Given the description of an element on the screen output the (x, y) to click on. 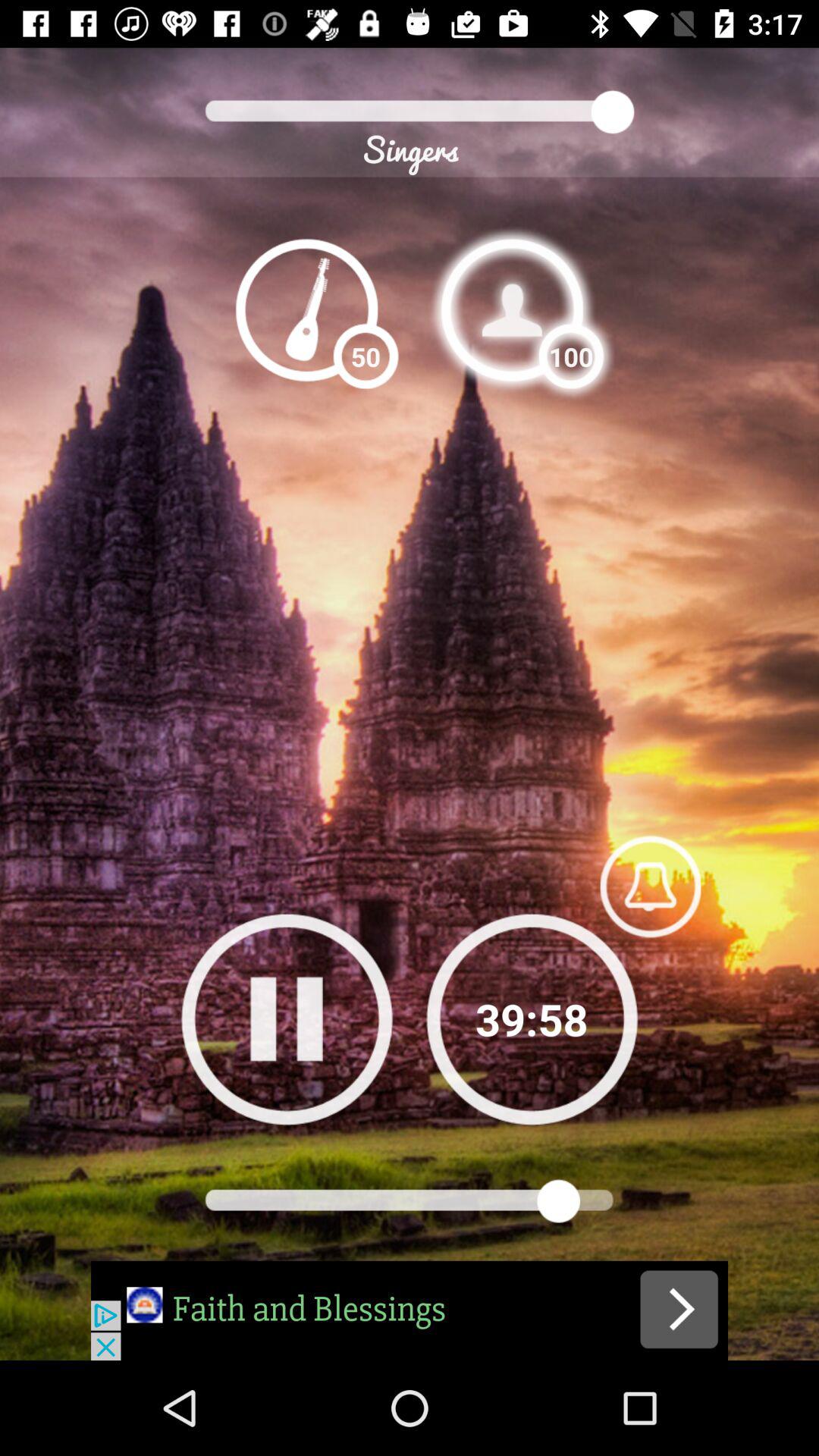
go to advertisement (409, 1310)
